Given the description of an element on the screen output the (x, y) to click on. 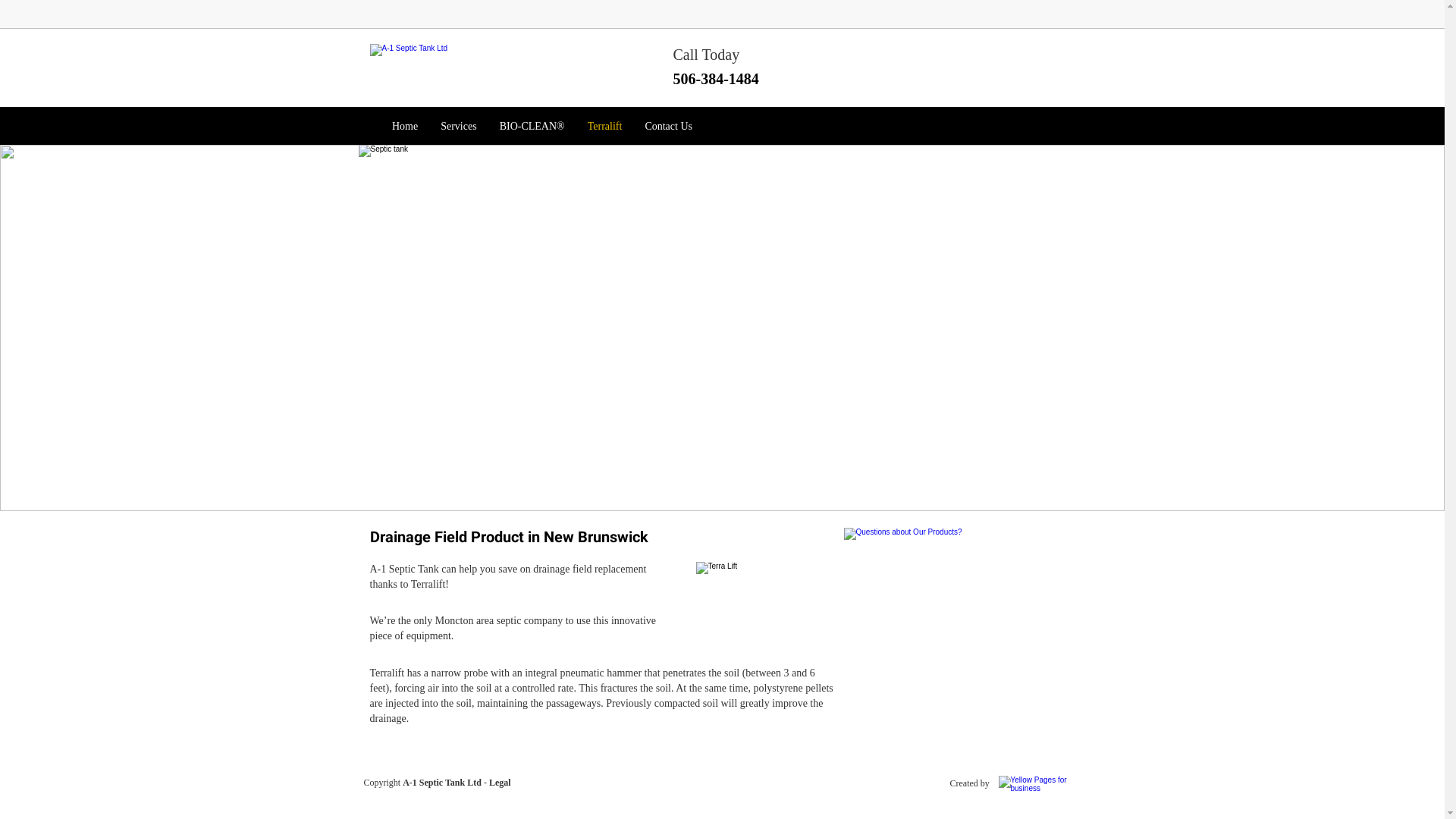
Services Element type: text (458, 126)
Terralift Element type: text (605, 126)
506-384-1484 Element type: text (716, 81)
Home Element type: text (404, 126)
A-1 Septic Tank Ltd Element type: text (441, 782)
Legal Element type: text (500, 782)
Contact Us Element type: text (668, 126)
